Given the description of an element on the screen output the (x, y) to click on. 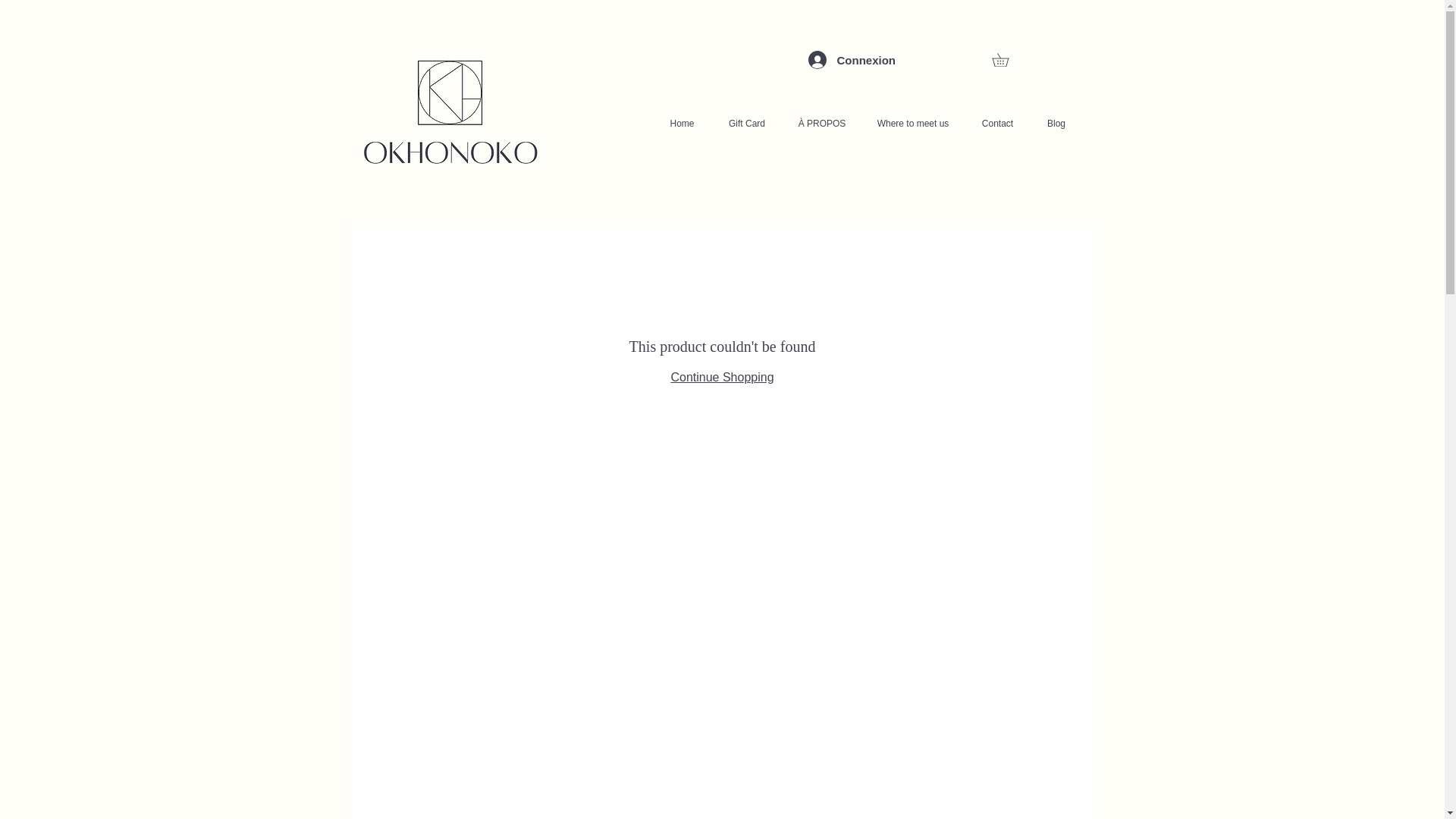
Contact (996, 123)
Gift Card (747, 123)
Continue Shopping (721, 377)
Connexion (830, 59)
Where to meet us (913, 123)
